Given the description of an element on the screen output the (x, y) to click on. 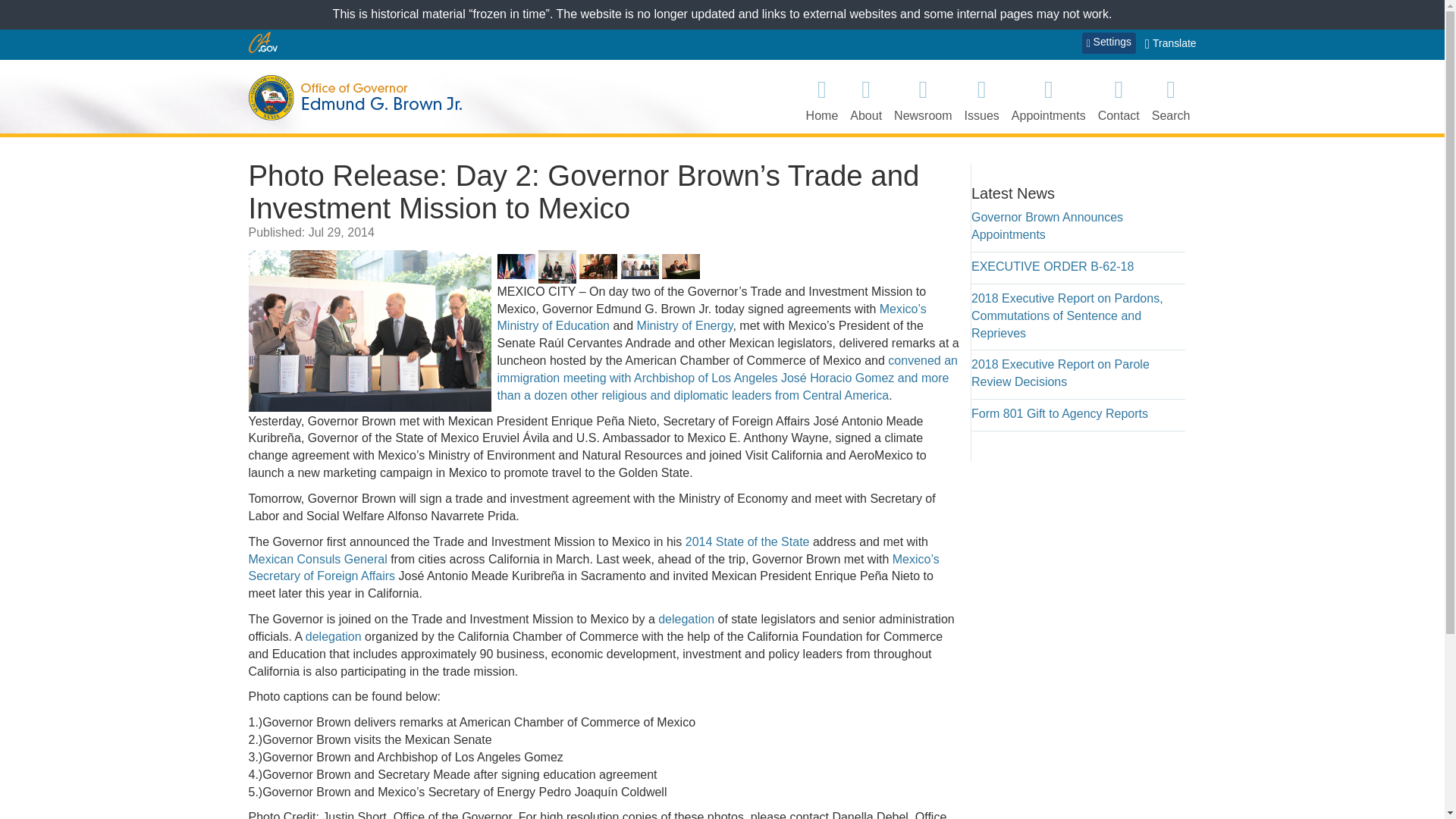
Settings (1108, 43)
Appointments (1048, 98)
Translate (1170, 44)
CA.gov (263, 43)
